Given the description of an element on the screen output the (x, y) to click on. 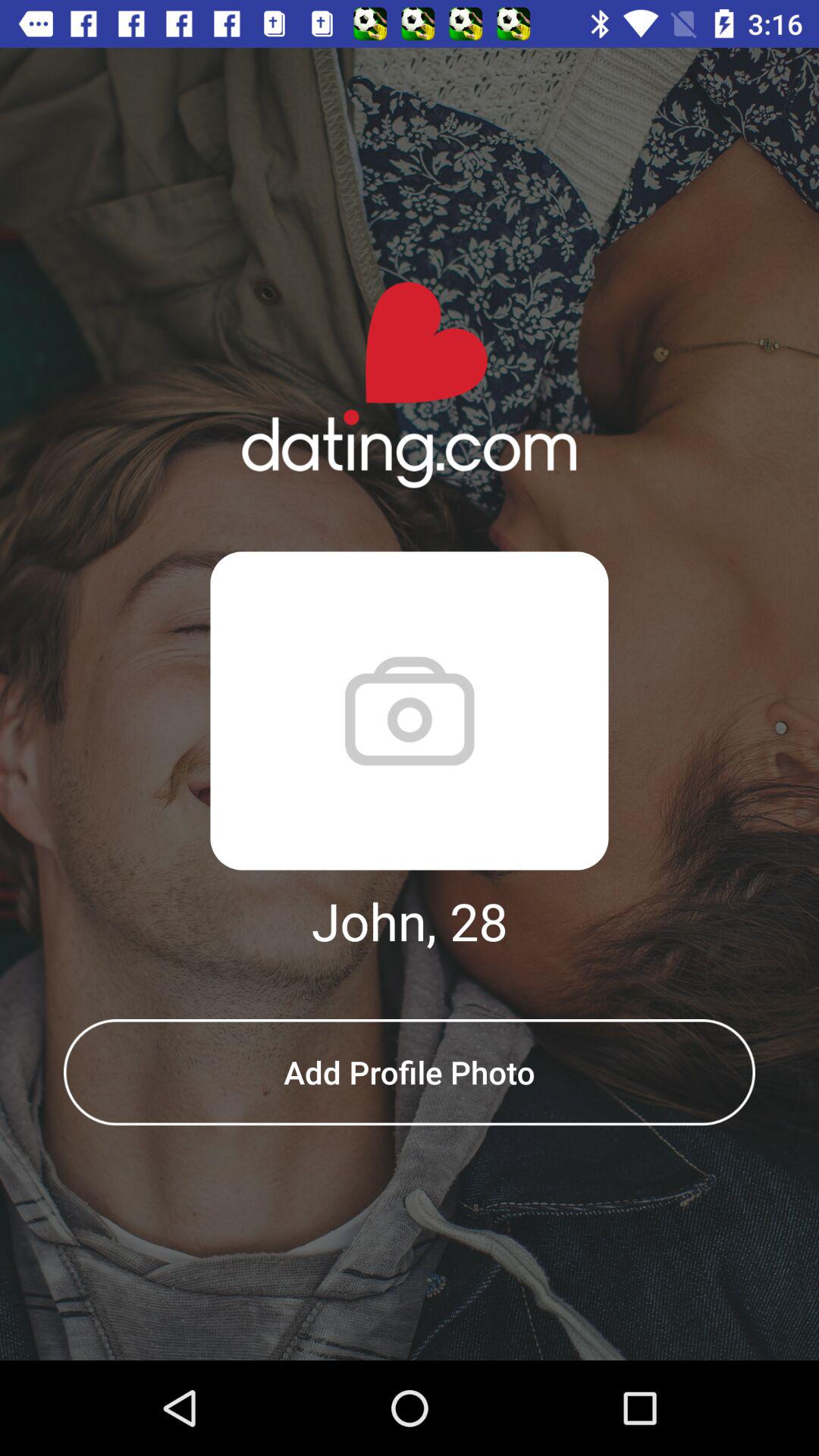
launch the item below the john, 28 item (409, 1072)
